Given the description of an element on the screen output the (x, y) to click on. 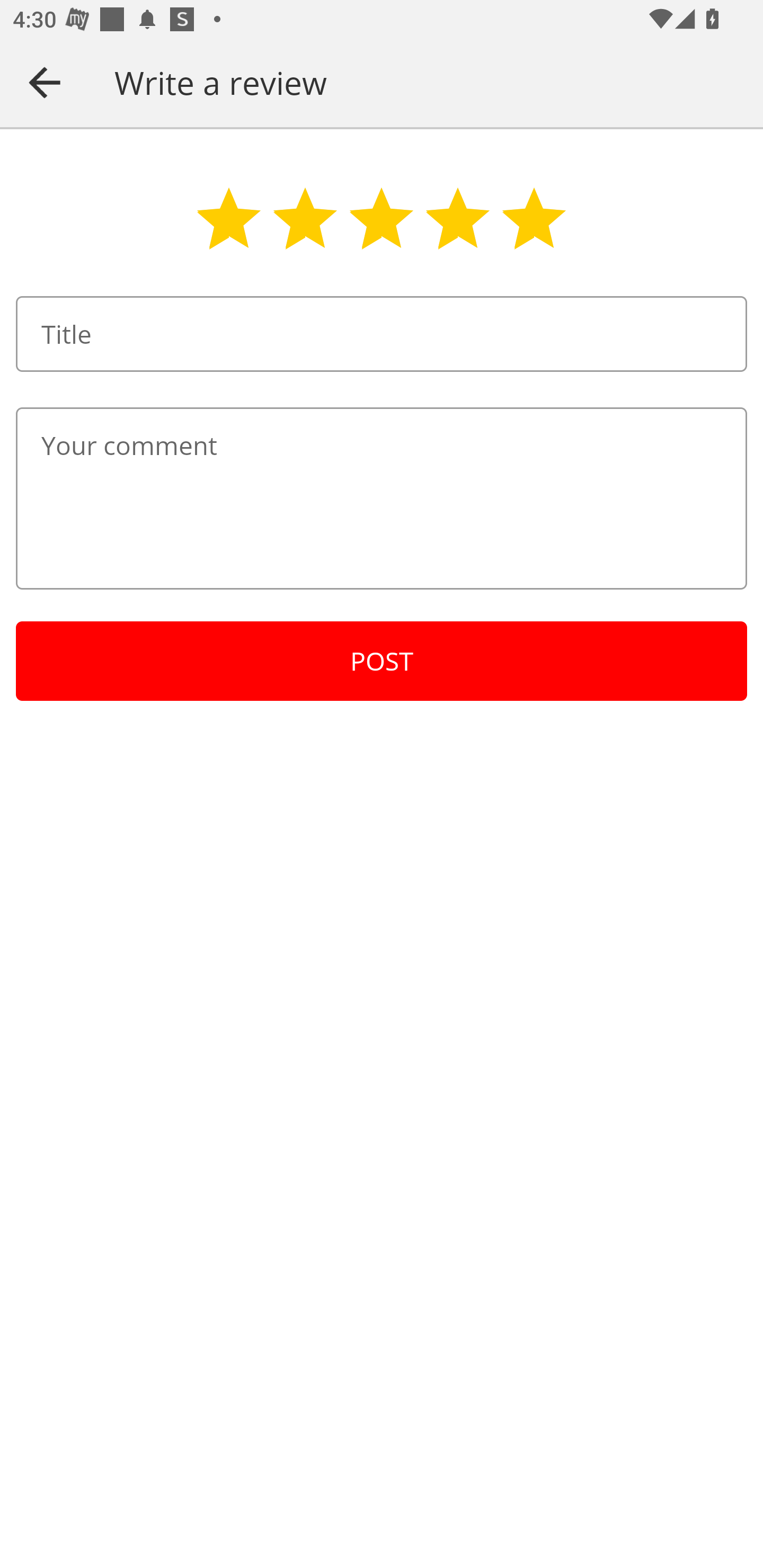
Navigate up (44, 82)
Title (381, 333)
Your comment (381, 498)
POST (381, 660)
